Given the description of an element on the screen output the (x, y) to click on. 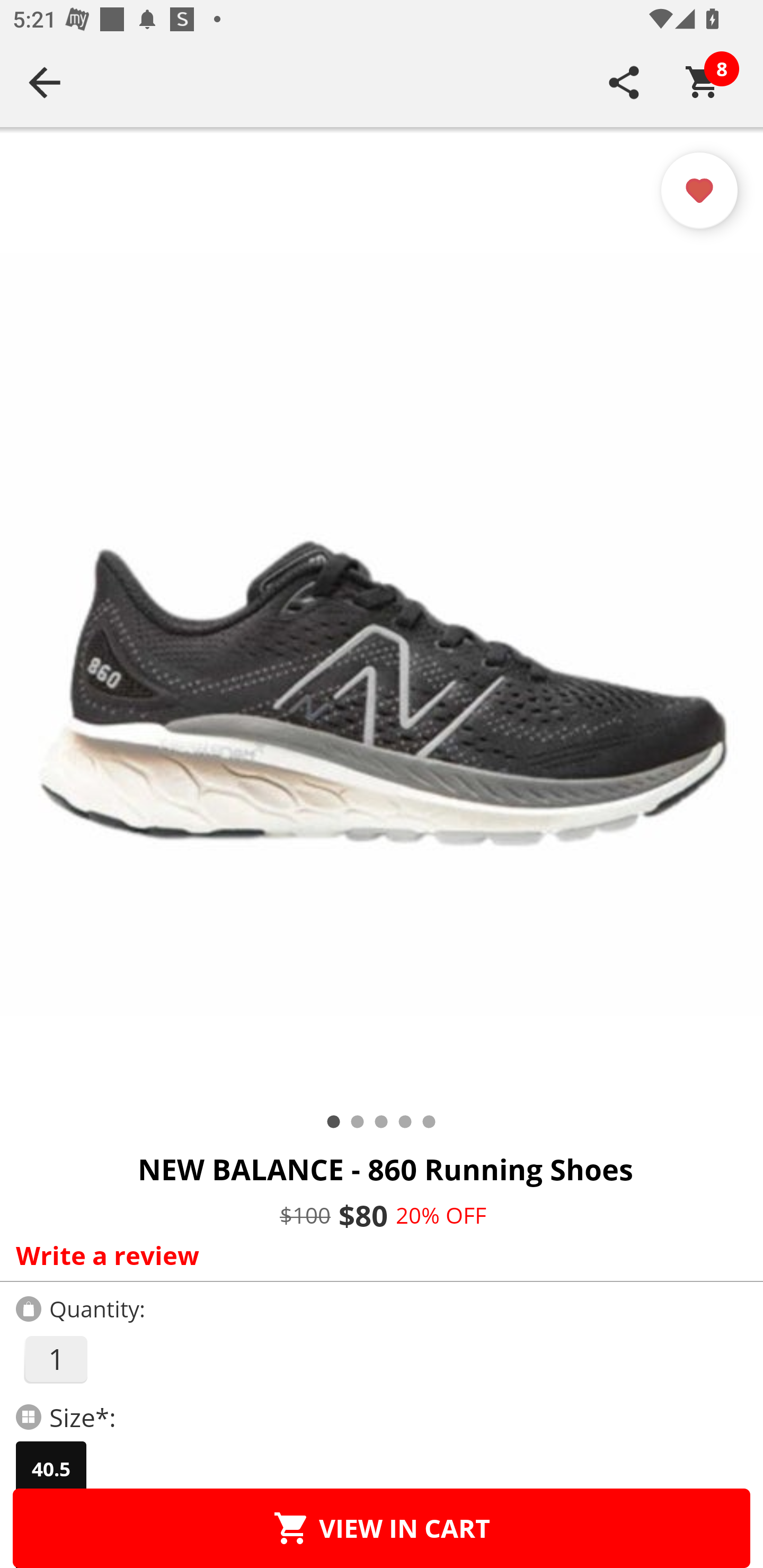
Navigate up (44, 82)
SHARE (623, 82)
Cart (703, 81)
Write a review (377, 1255)
1 (55, 1358)
40.5 (51, 1468)
VIEW IN CART (381, 1528)
